Given the description of an element on the screen output the (x, y) to click on. 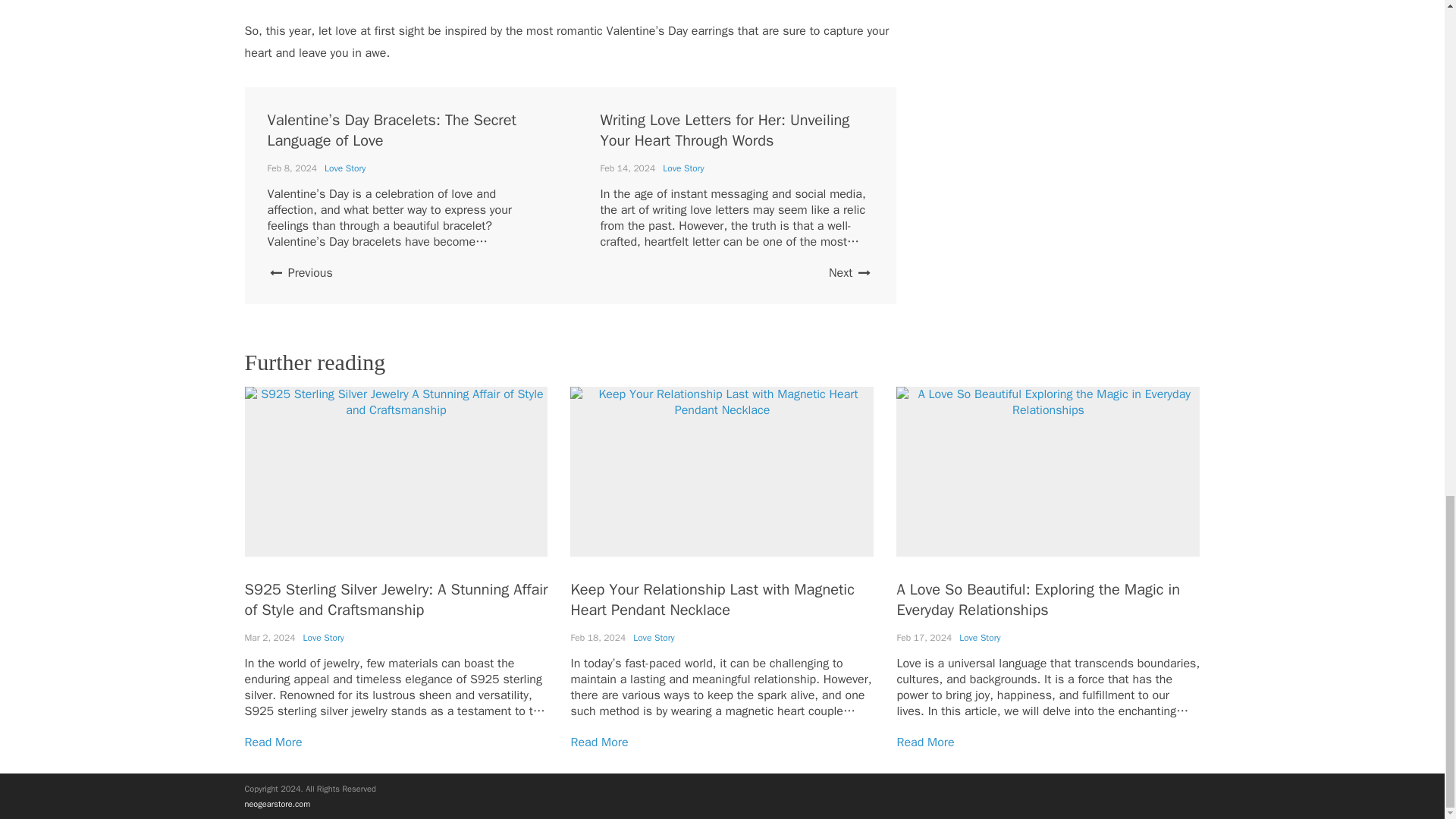
Love Story (344, 168)
Next (850, 272)
Previous (298, 272)
Love Story (653, 637)
Love Story (322, 637)
Love Story (682, 168)
Read More (272, 742)
